Given the description of an element on the screen output the (x, y) to click on. 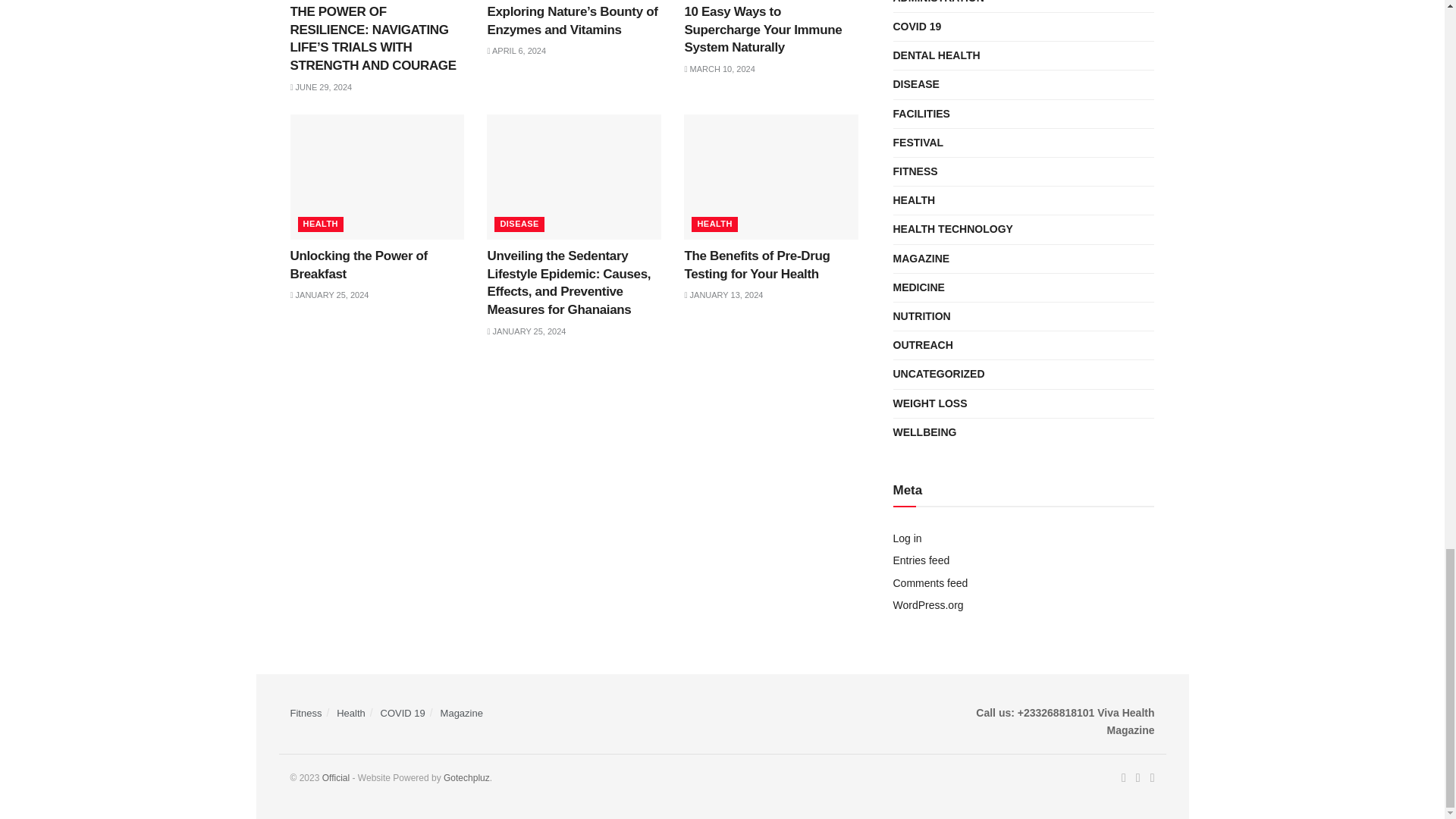
Viva health Magazine (336, 777)
Jegtheme (466, 777)
